Given the description of an element on the screen output the (x, y) to click on. 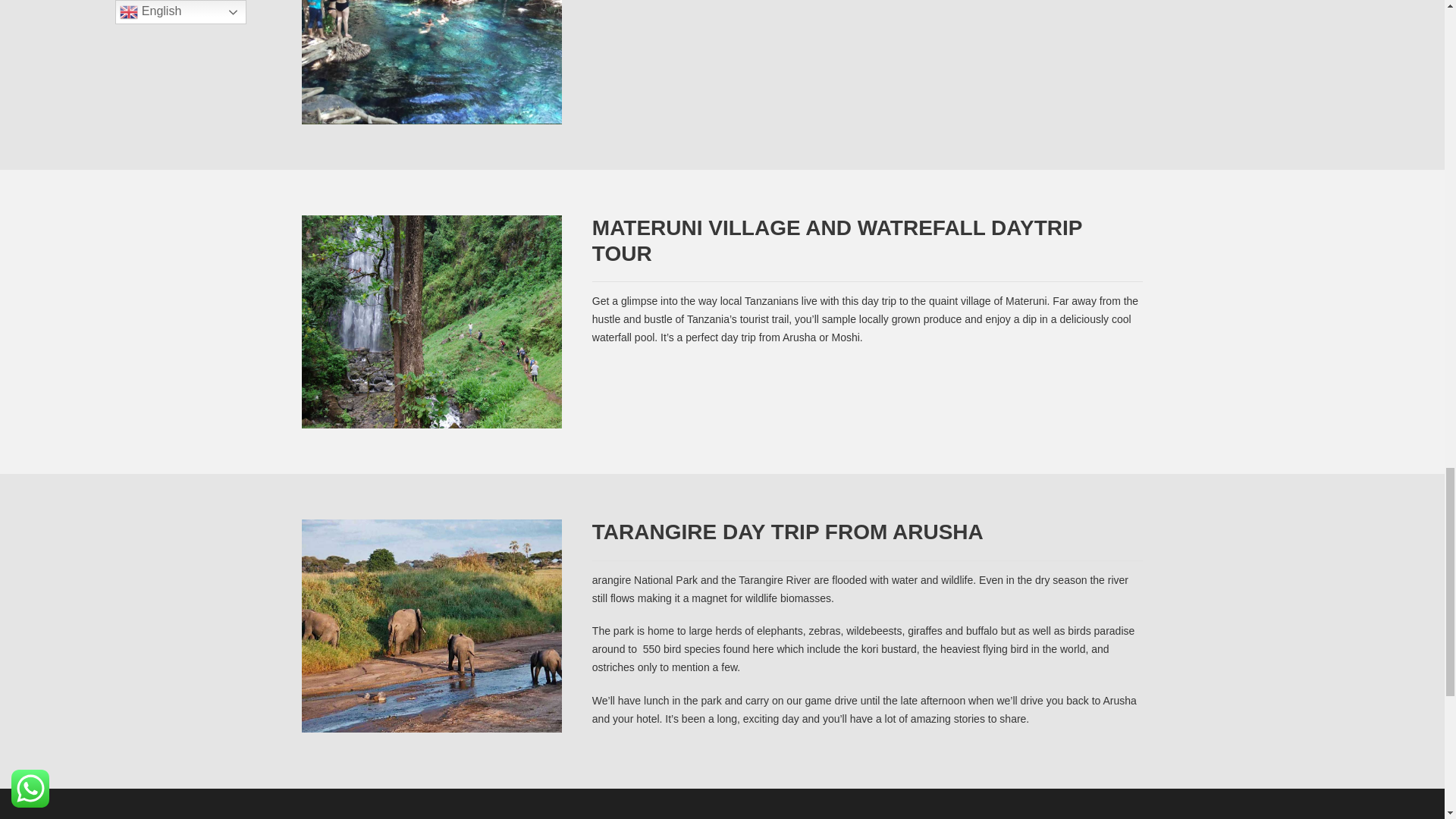
MATERUNI-VILLAGE-AND-WATREFALL-DAYTRIP-TOUR (431, 321)
TARANGIRE-DAY-TOUR (431, 625)
